Given the description of an element on the screen output the (x, y) to click on. 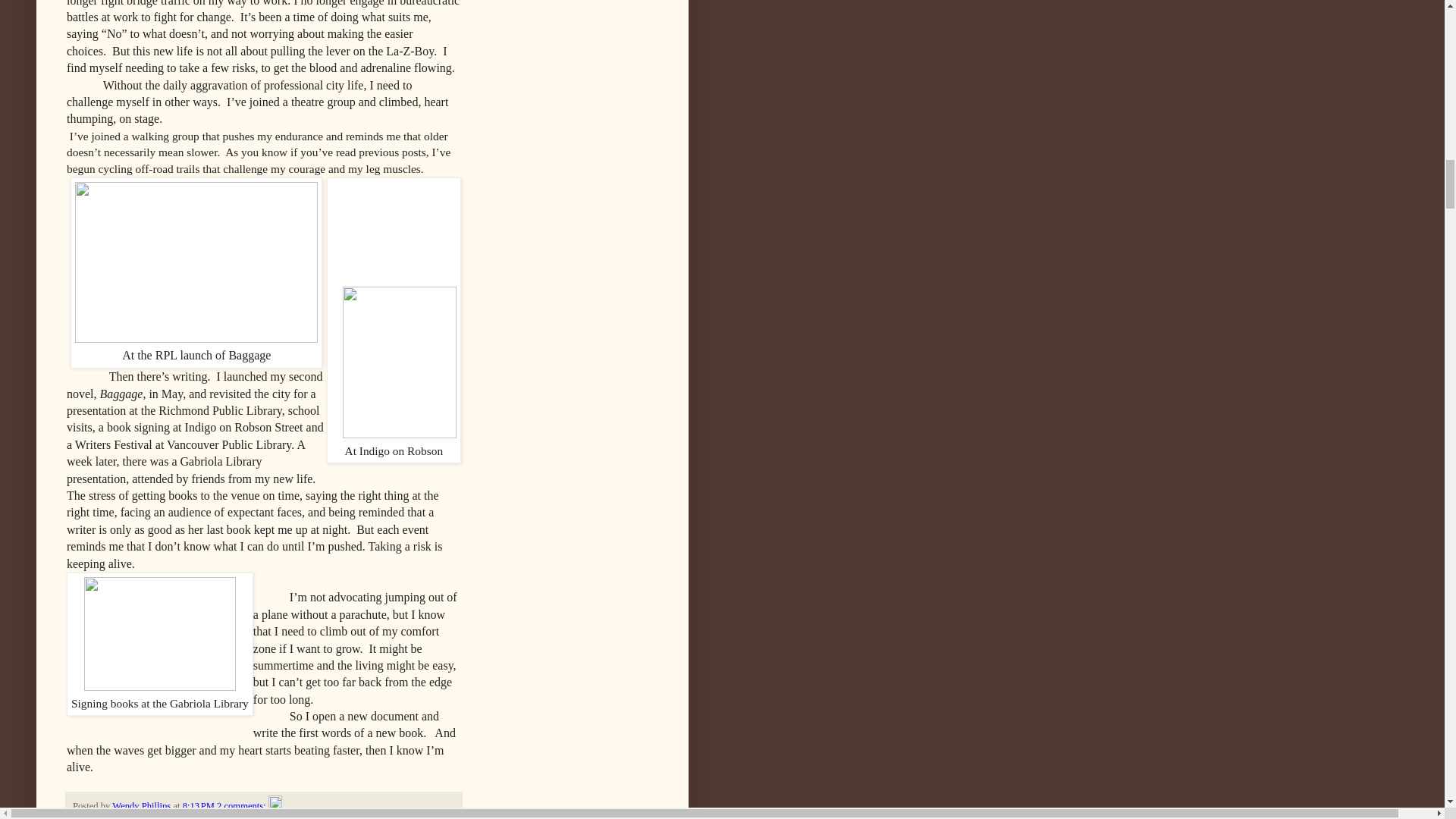
Edit Post (274, 805)
Share to Facebook (249, 817)
BlogThis! (133, 817)
Email This (93, 817)
permanent link (198, 805)
author profile (142, 805)
Wendy Phillips (142, 805)
Share to Twitter (183, 817)
